Given the description of an element on the screen output the (x, y) to click on. 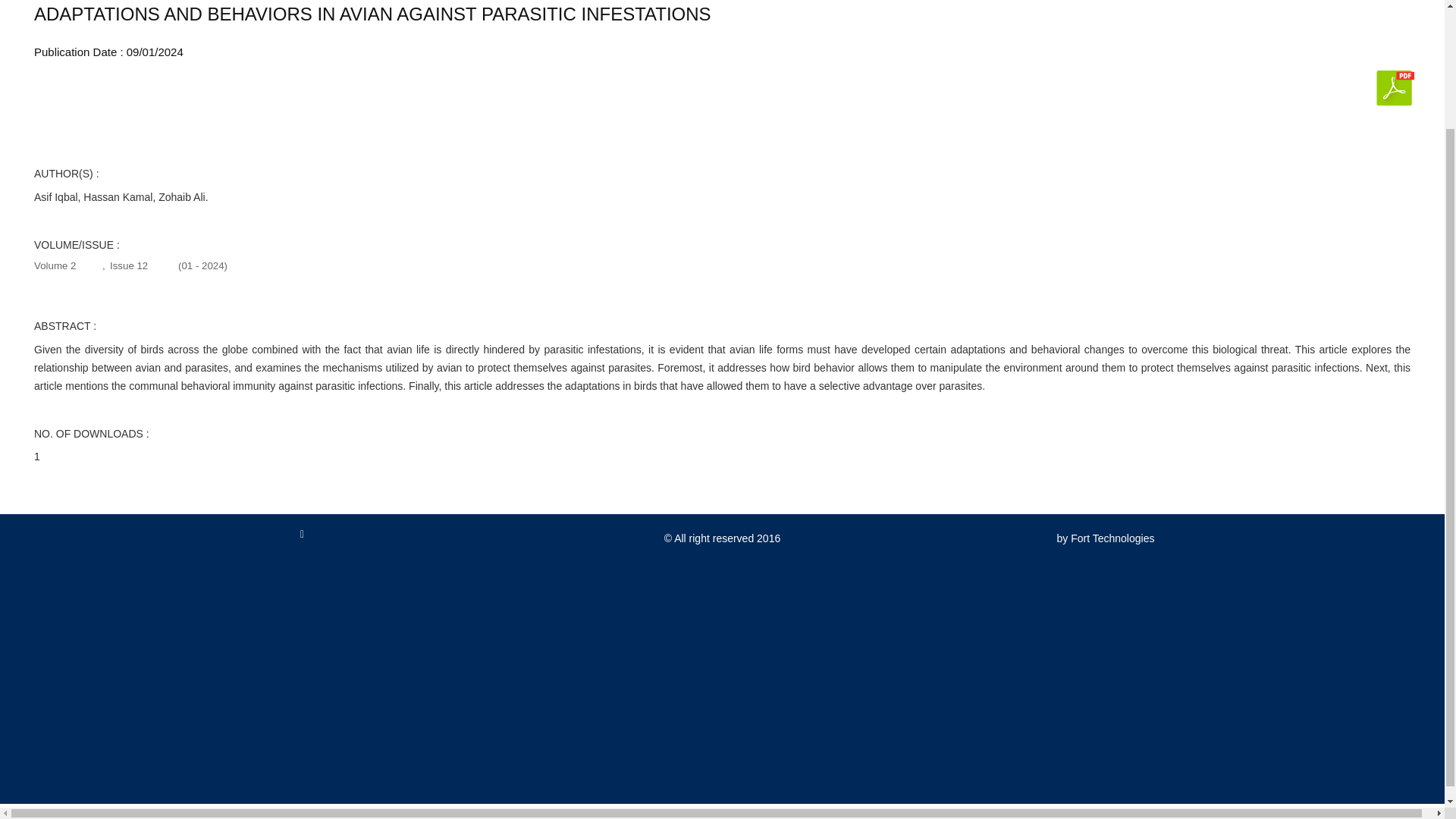
Facebook (301, 540)
